Given the description of an element on the screen output the (x, y) to click on. 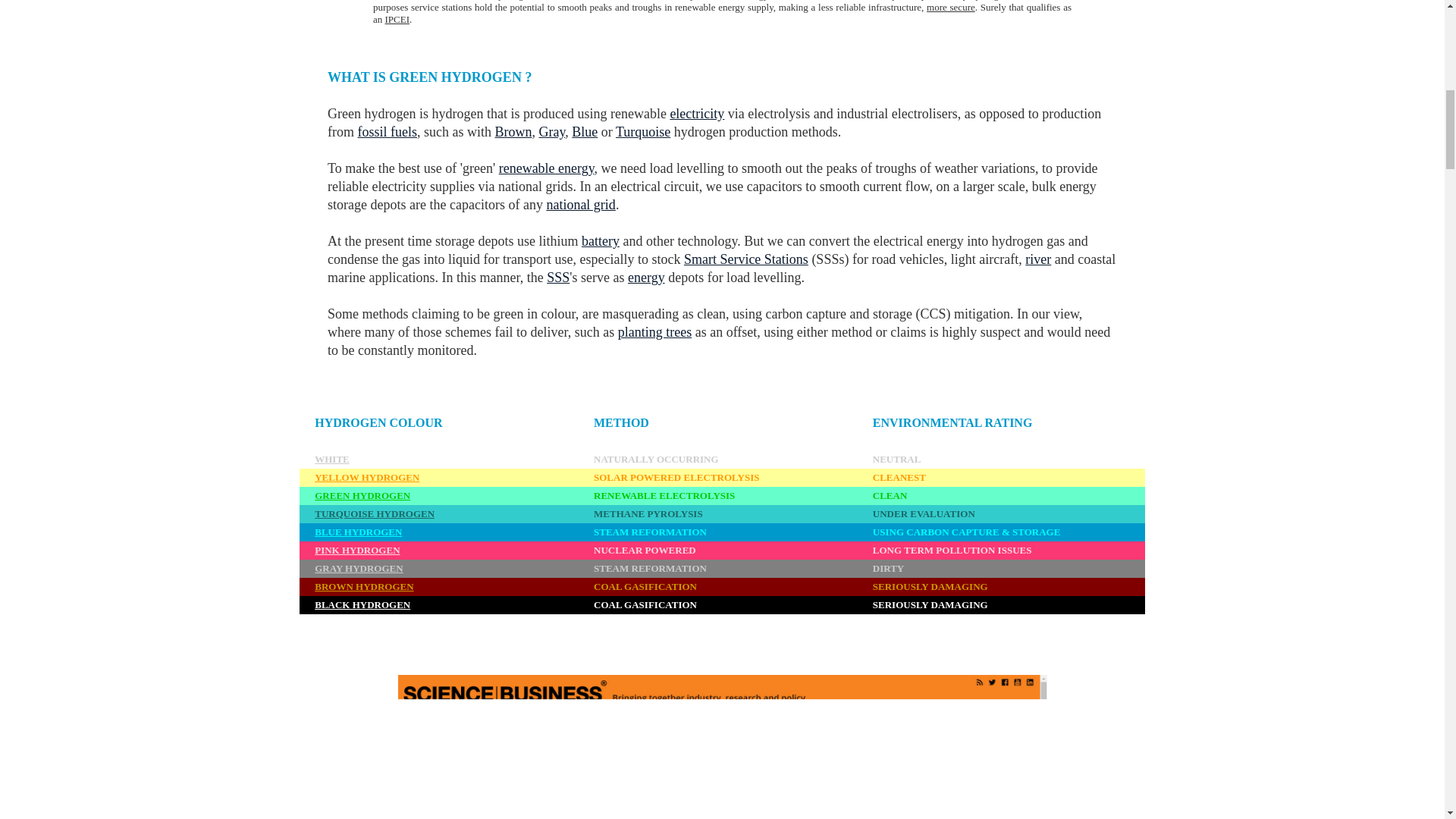
Gray (551, 131)
fossil fuels (387, 131)
battery (600, 240)
YELLOW HYDROGEN (366, 477)
electricity (696, 113)
SSS (558, 277)
BLUE HYDROGEN (357, 530)
planting trees (654, 331)
more secure (950, 7)
energy (646, 277)
